Given the description of an element on the screen output the (x, y) to click on. 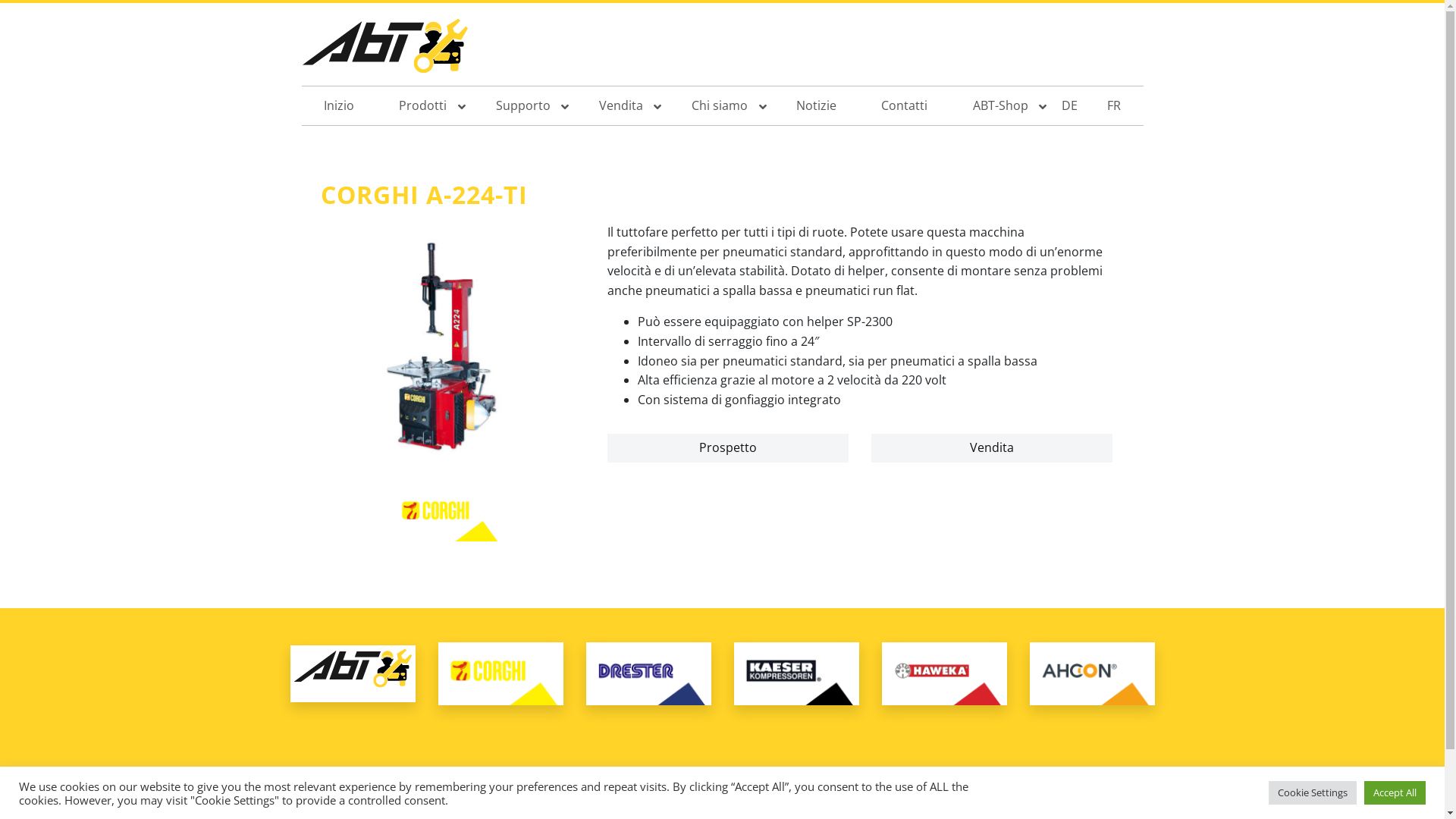
Vendita Element type: text (991, 447)
Contatti Element type: text (757, 803)
Impronta Element type: text (818, 803)
Inizio Element type: text (338, 105)
DE Element type: text (1076, 105)
Dichiarazione sulla protezione dei dati Element type: text (968, 803)
Prospetto Element type: text (727, 447)
ABT-Shop Element type: text (1002, 105)
ABT AG Element type: hover (384, 50)
Contatti Element type: text (904, 105)
FR Element type: text (1120, 105)
Accept All Element type: text (1394, 792)
Supporto Element type: text (524, 105)
Cookie Settings Element type: text (1312, 792)
Prodotti Element type: text (424, 105)
Notizie Element type: text (816, 105)
Vendita Element type: text (622, 105)
Chi siamo Element type: text (720, 105)
